Given the description of an element on the screen output the (x, y) to click on. 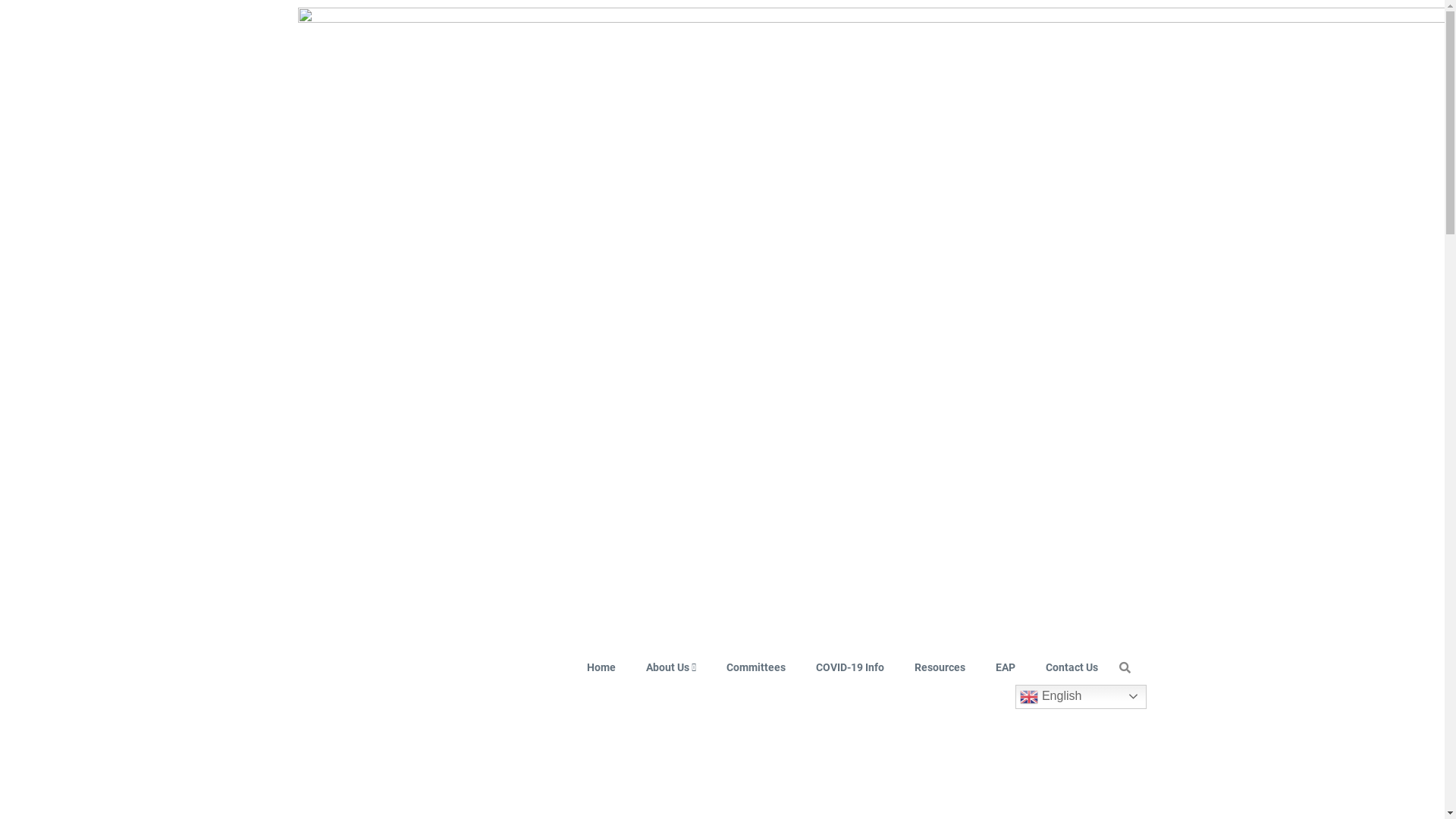
COVID-19 Info Element type: text (849, 666)
Contact Us Element type: text (1071, 666)
EAP Element type: text (1005, 666)
Resources Element type: text (939, 666)
Home Element type: text (600, 666)
English Element type: text (1080, 696)
Committees Element type: text (755, 666)
